Given the description of an element on the screen output the (x, y) to click on. 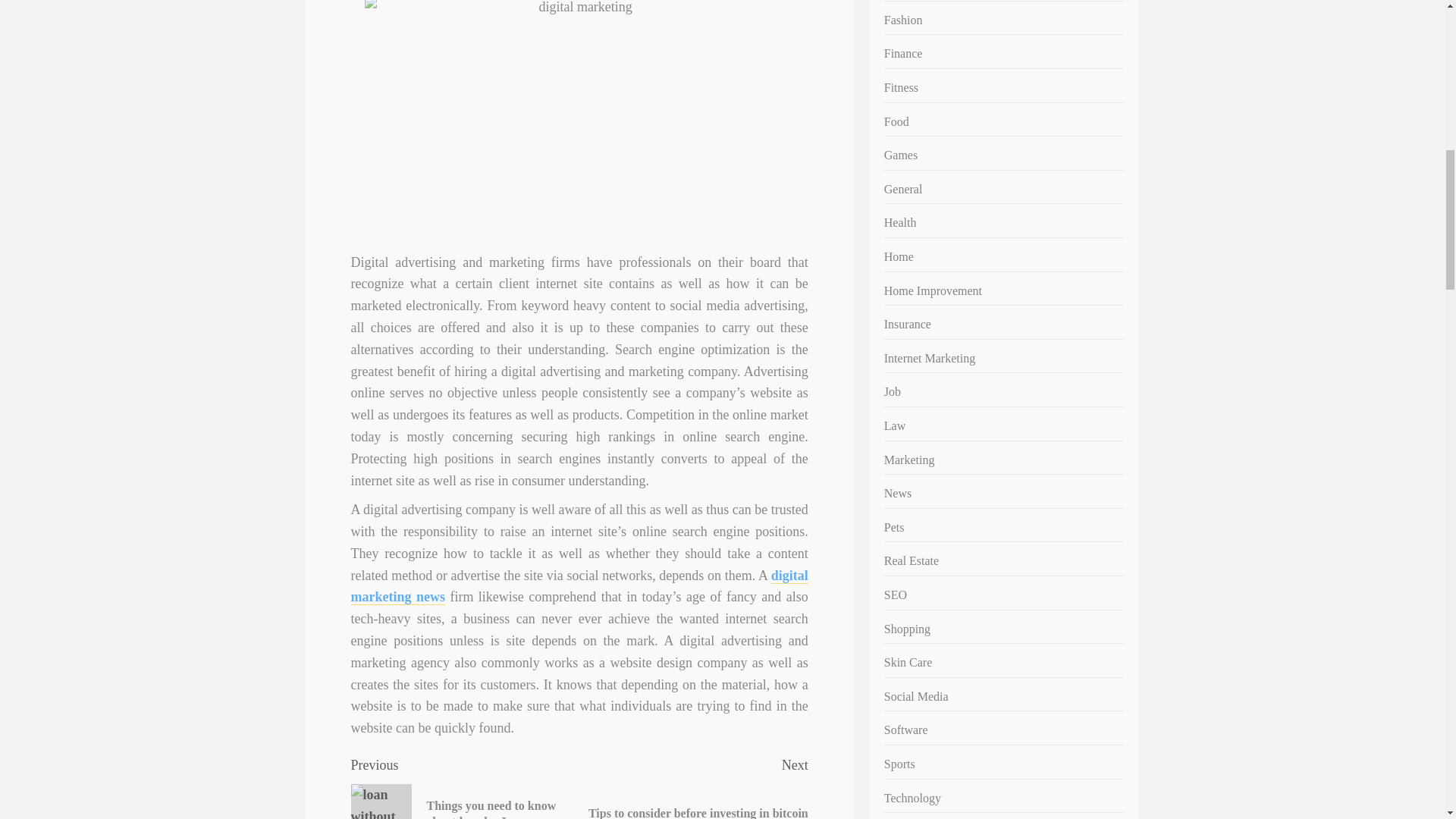
digital marketing news (579, 587)
